Given the description of an element on the screen output the (x, y) to click on. 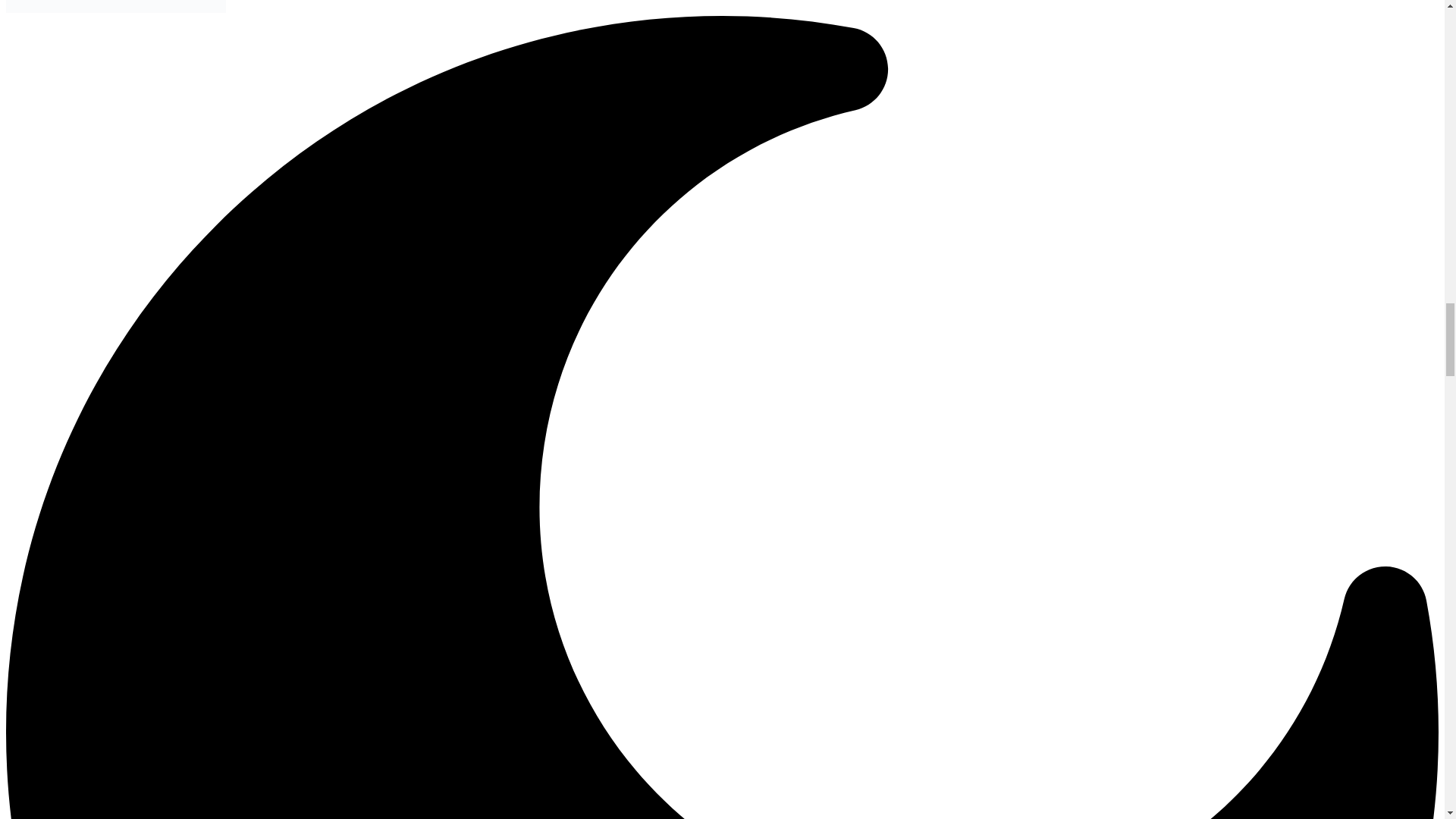
TownFlex (115, 8)
